Given the description of an element on the screen output the (x, y) to click on. 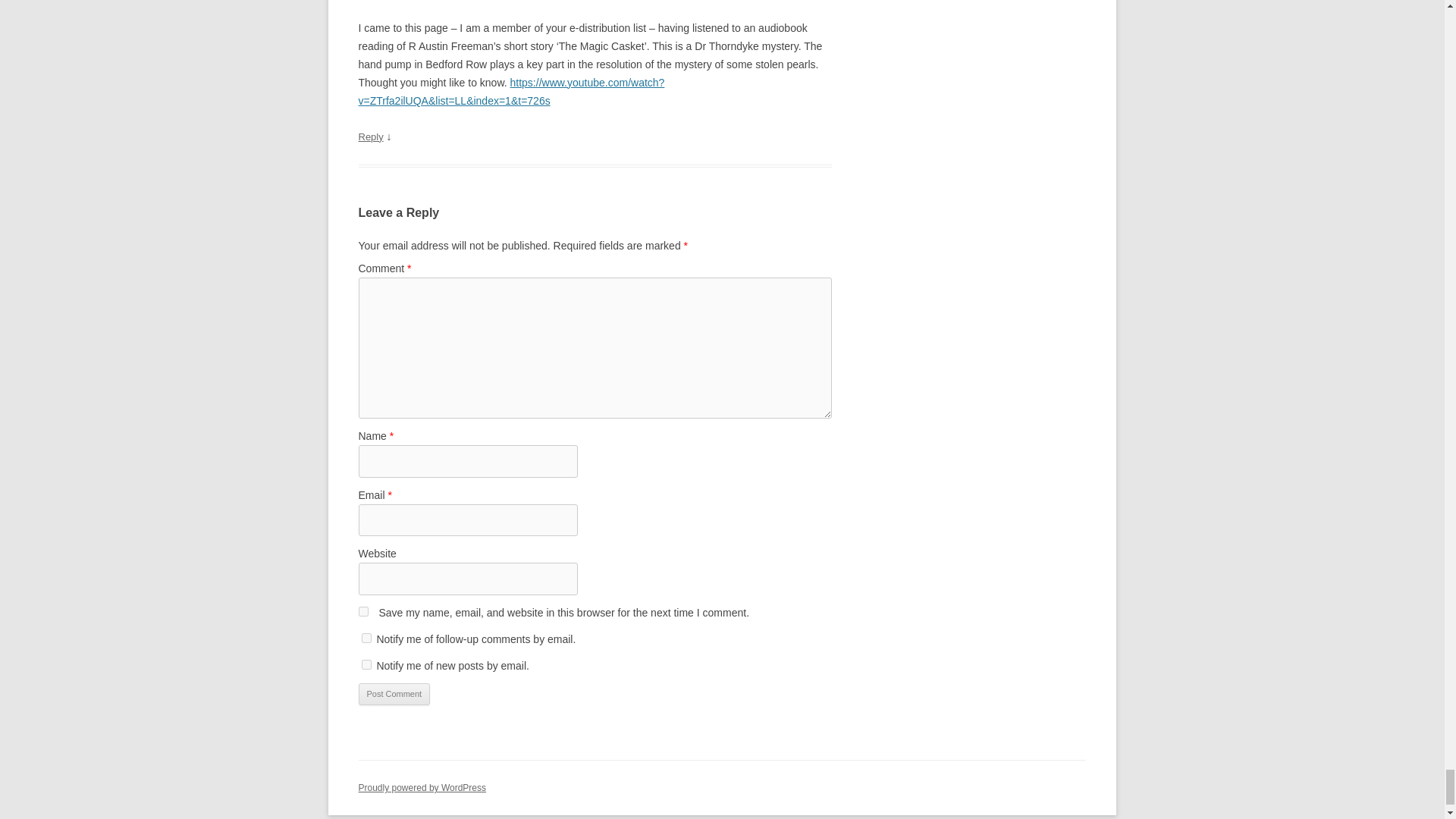
Post Comment (393, 694)
yes (363, 611)
Semantic Personal Publishing Platform (422, 787)
subscribe (366, 664)
subscribe (366, 637)
